Given the description of an element on the screen output the (x, y) to click on. 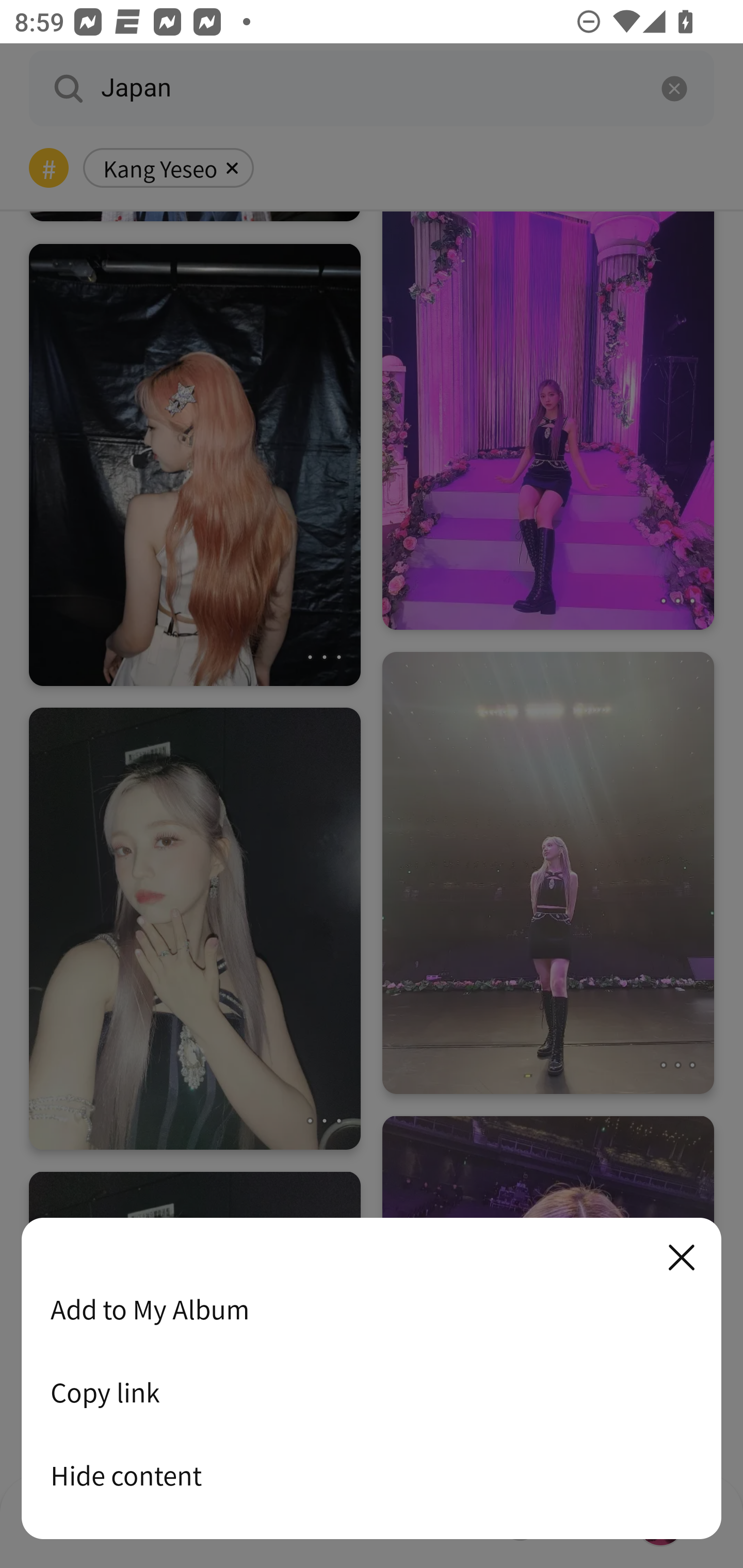
Add to My Album Copy link Hide content (371, 1378)
Add to My Album (371, 1308)
Copy link (371, 1391)
Hide content (371, 1474)
